Given the description of an element on the screen output the (x, y) to click on. 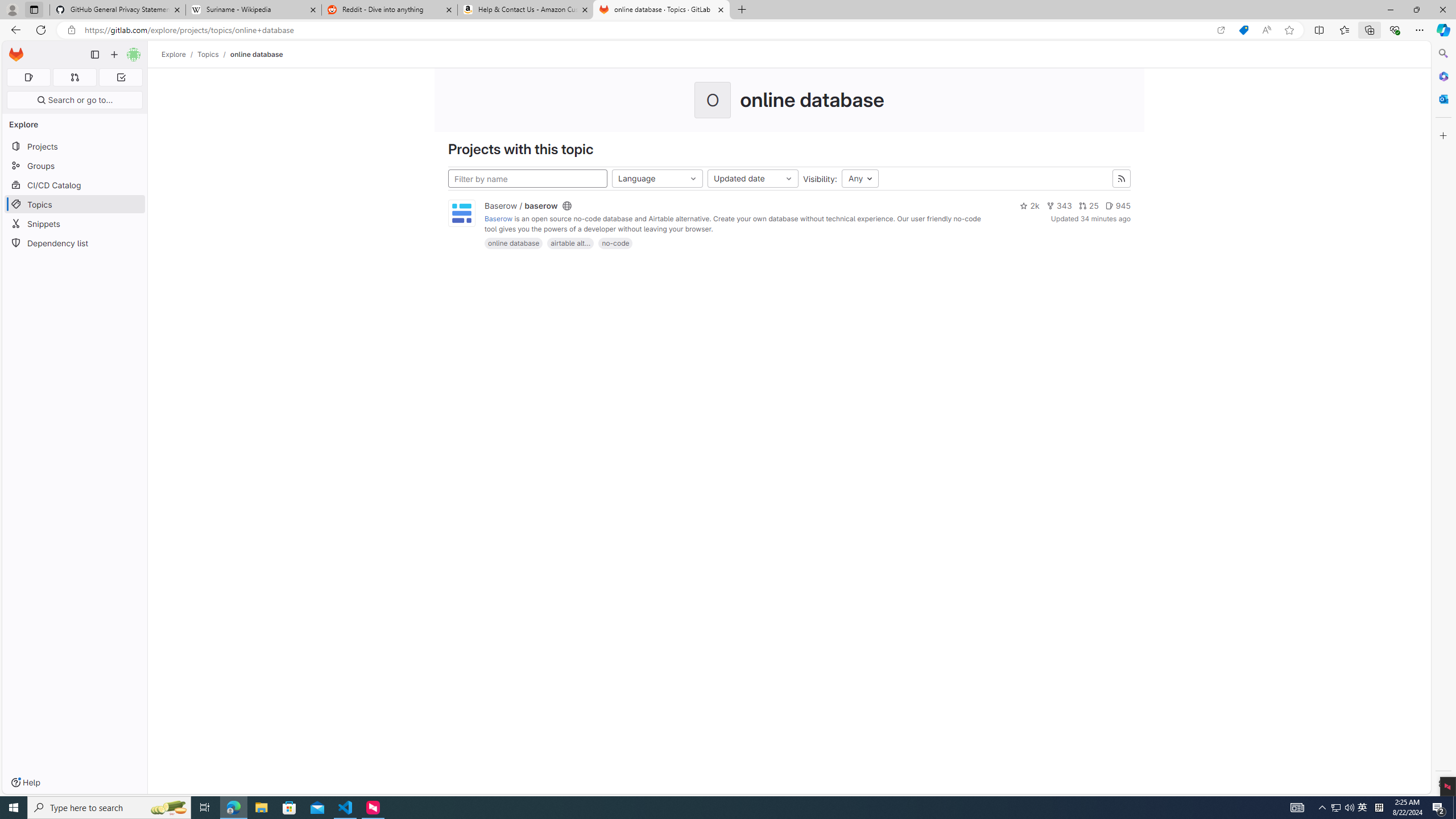
Class: s14 gl-mr-2 (1109, 205)
Baserow / baserow (520, 205)
Snippets (74, 223)
Class: s16 (567, 206)
Merge requests 0 (74, 76)
Topics/ (214, 53)
Dependency list (74, 242)
